Given the description of an element on the screen output the (x, y) to click on. 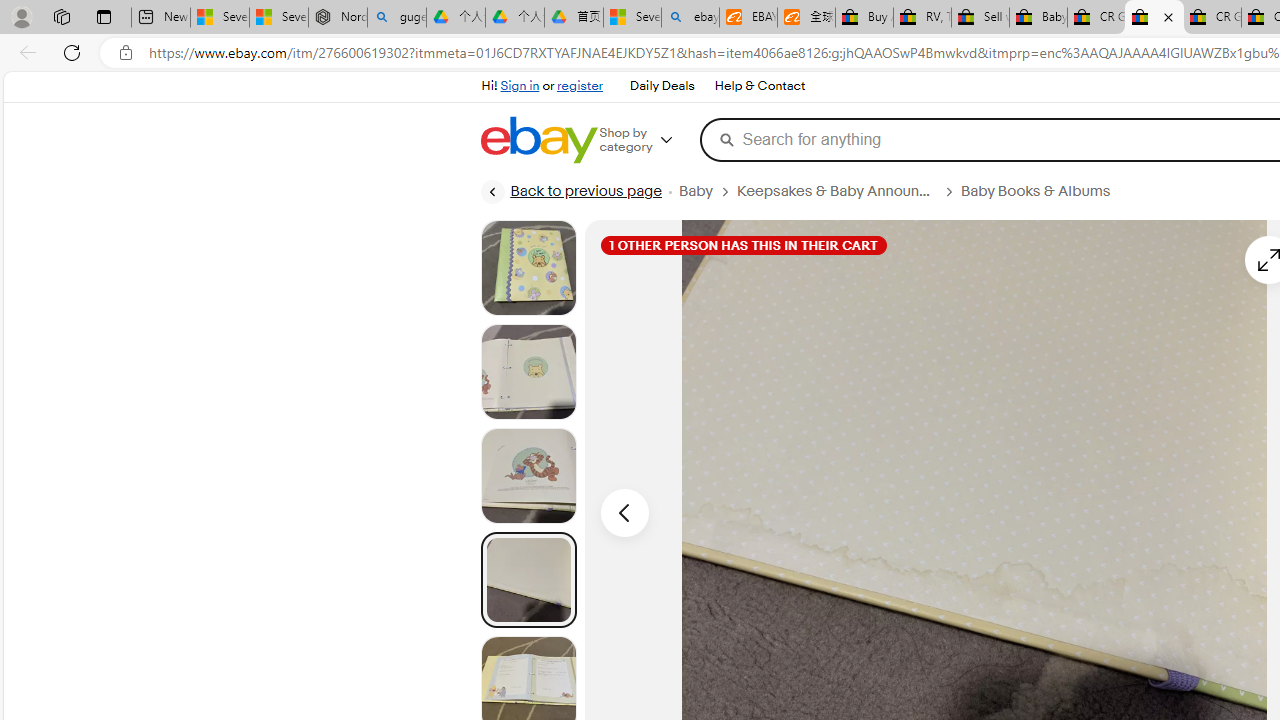
Picture 2 of 22 (528, 371)
Daily Deals (662, 86)
Baby Books & Albums (1035, 191)
guge yunpan - Search (396, 17)
Help & Contact (760, 86)
Previous image - Item images thumbnails (624, 512)
Picture 1 of 22 (528, 268)
Baby Keepsakes & Announcements for sale | eBay (1038, 17)
Picture 4 of 22 (528, 579)
